Given the description of an element on the screen output the (x, y) to click on. 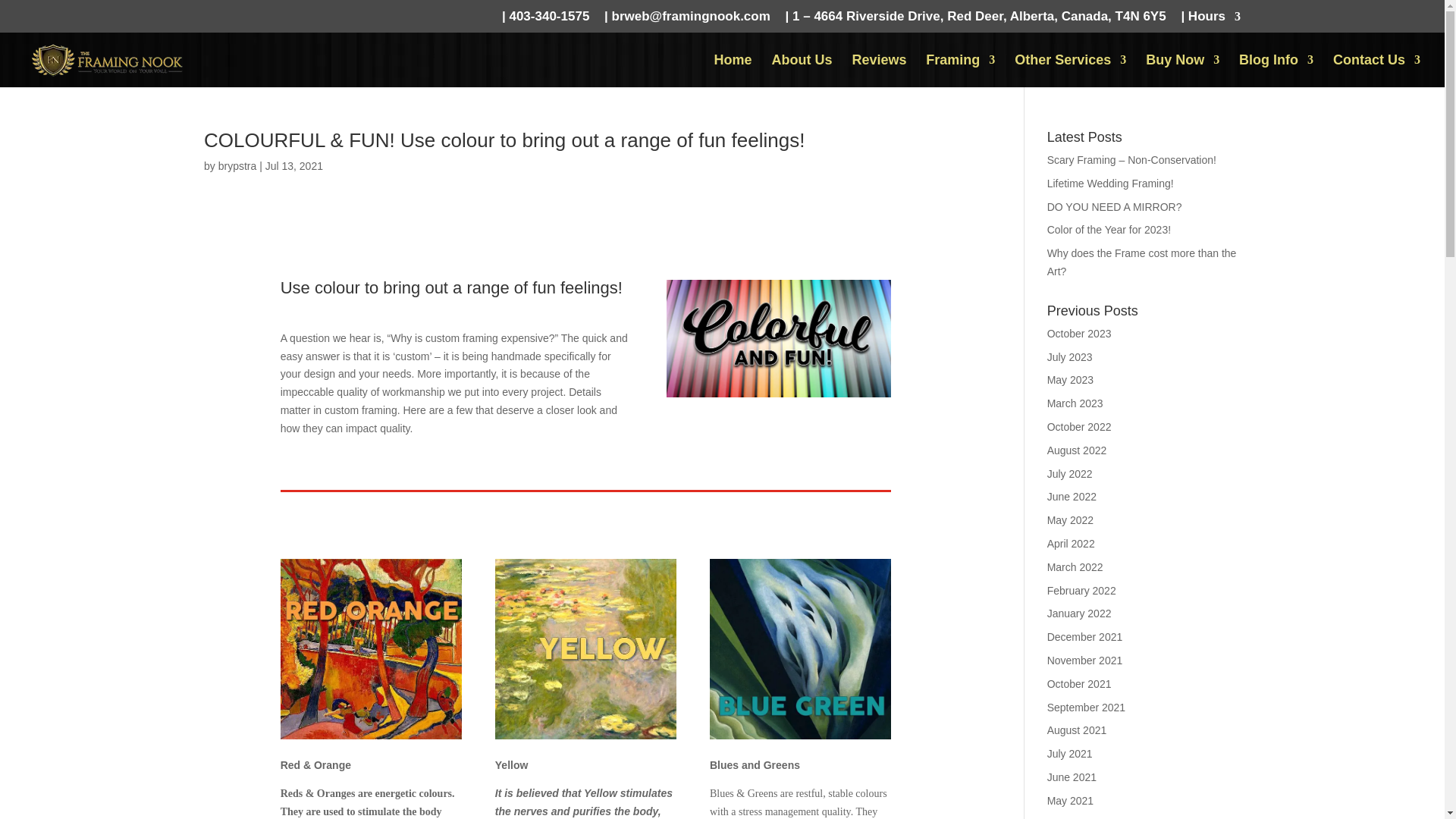
Blog Info (1276, 70)
Home (733, 70)
Reviews (878, 70)
yellow (586, 649)
redorange (371, 649)
About Us (801, 70)
bluegreen (800, 649)
Posts by brypstra (237, 165)
Other Services (1069, 70)
colorfulfun (777, 338)
Contact Us (1377, 70)
Buy Now (1182, 70)
Framing (960, 70)
